Given the description of an element on the screen output the (x, y) to click on. 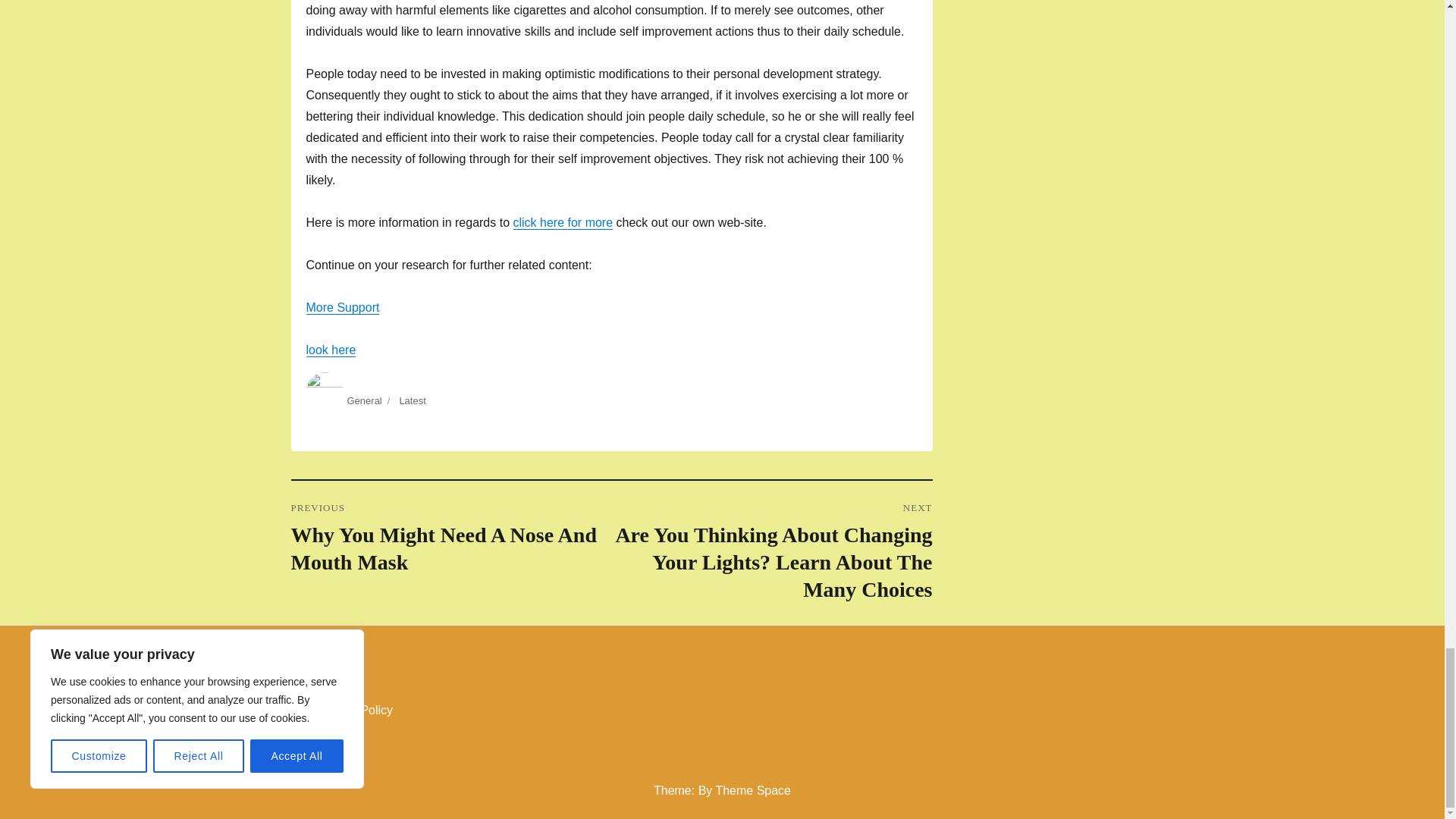
More Support (342, 307)
General (364, 400)
click here for more (562, 222)
Latest (411, 400)
look here (330, 349)
